Given the description of an element on the screen output the (x, y) to click on. 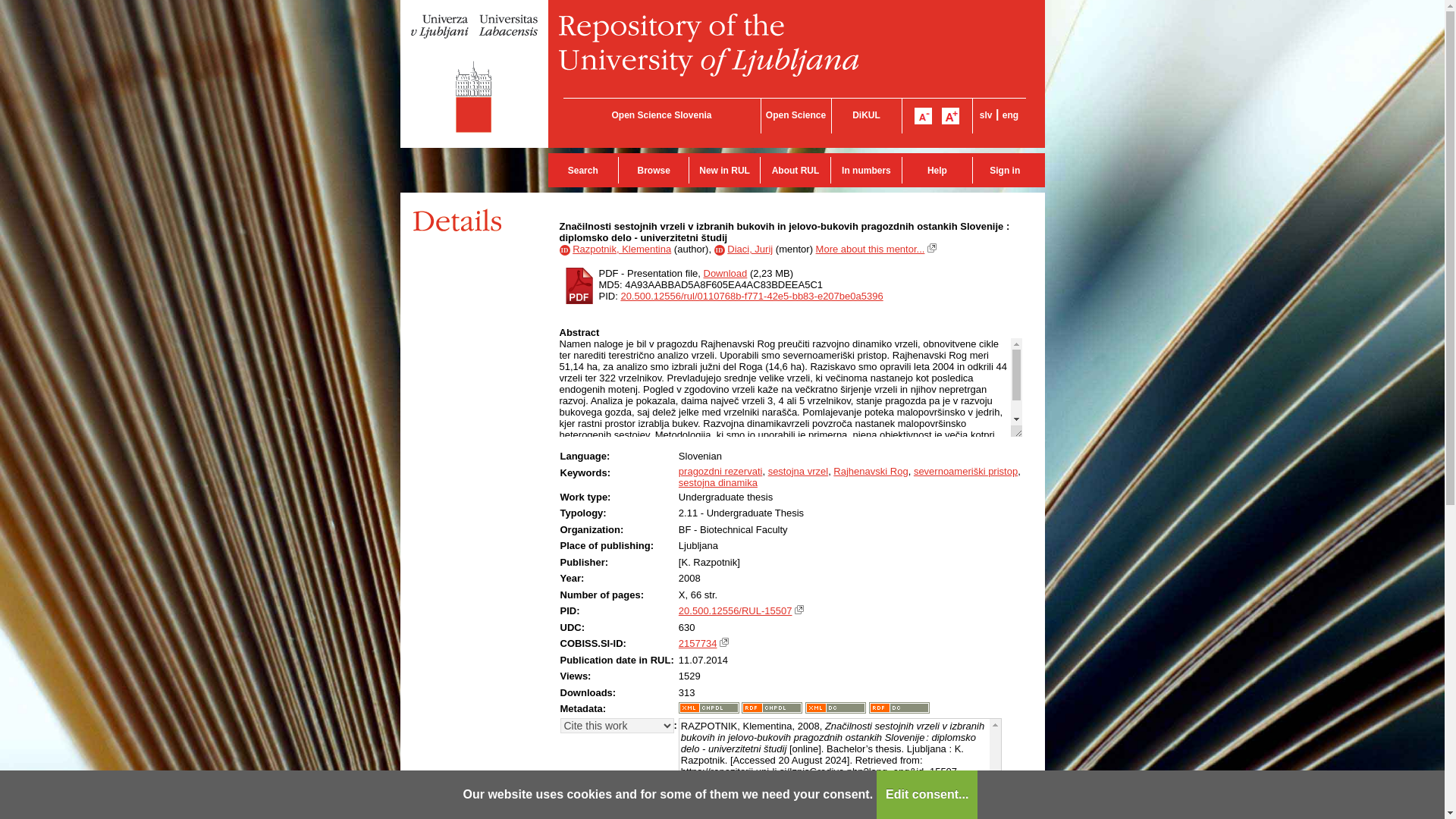
eng (1010, 114)
About RUL (794, 170)
More about this mentor... (869, 248)
sestojna vrzel (798, 471)
.pdf (578, 285)
Link is opened in a new window (724, 642)
English (1010, 114)
Digital Library of the University of Ljubljana (865, 114)
2157734 (697, 643)
University of Ljubljana (474, 74)
